Given the description of an element on the screen output the (x, y) to click on. 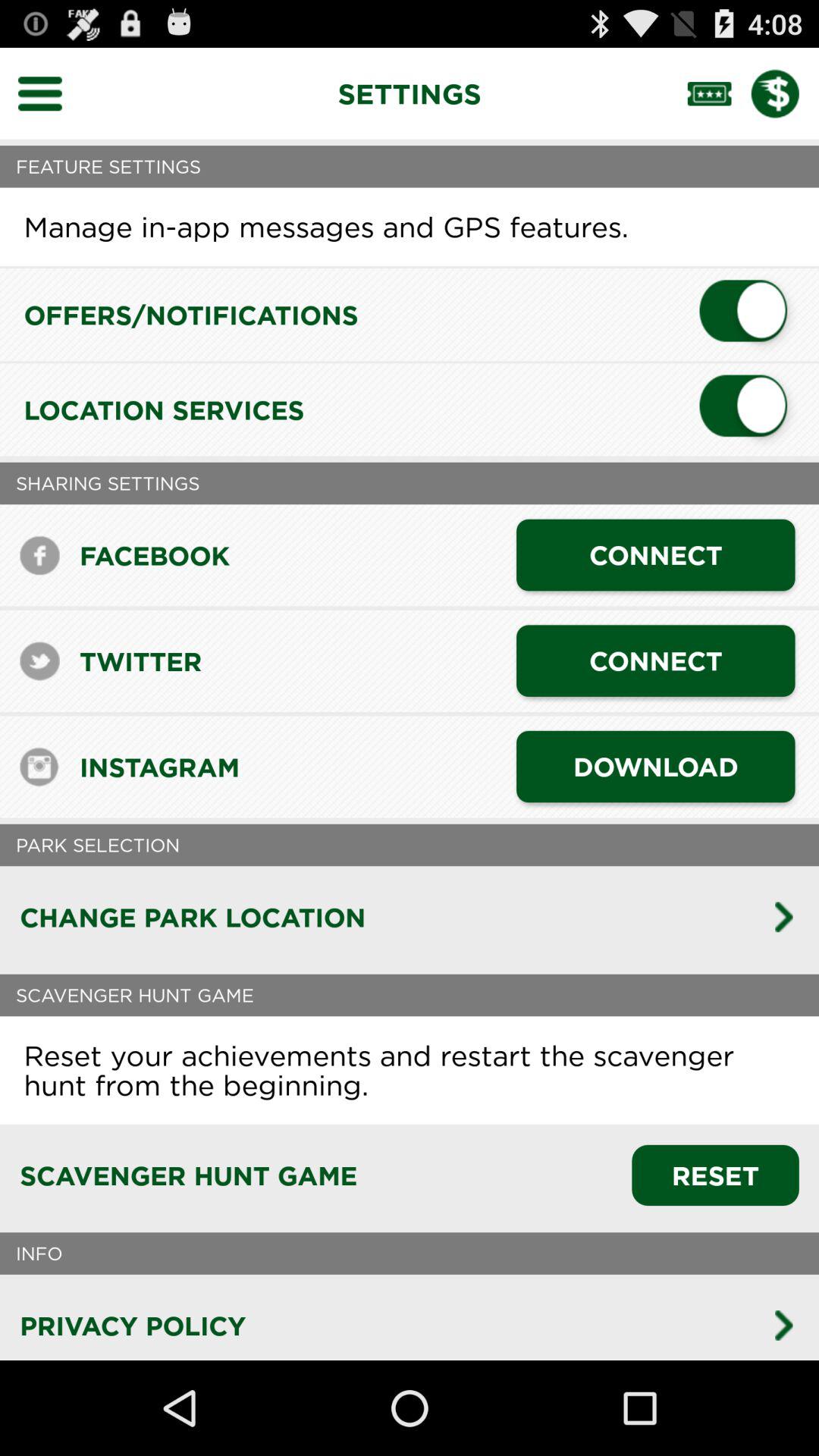
switch location services option (749, 409)
